Given the description of an element on the screen output the (x, y) to click on. 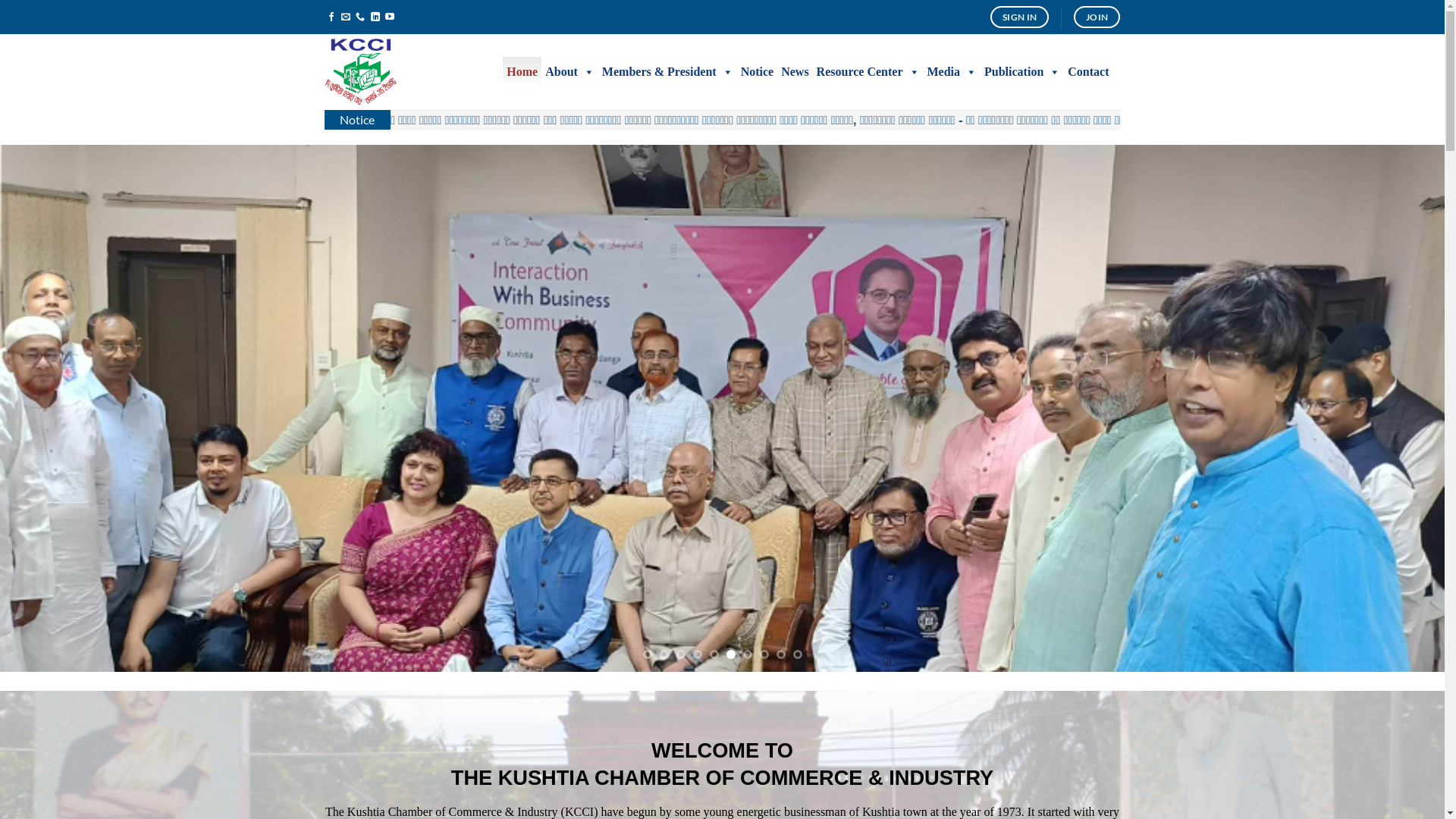
Notice Element type: text (757, 71)
JOIN Element type: text (1096, 17)
SIGN IN Element type: text (1019, 17)
Contact Element type: text (1087, 71)
Members & President Element type: text (667, 71)
About Element type: text (569, 71)
Media Element type: text (952, 71)
Resource Center Element type: text (867, 71)
News Element type: text (794, 71)
Home Element type: text (521, 71)
Publication Element type: text (1021, 71)
